Given the description of an element on the screen output the (x, y) to click on. 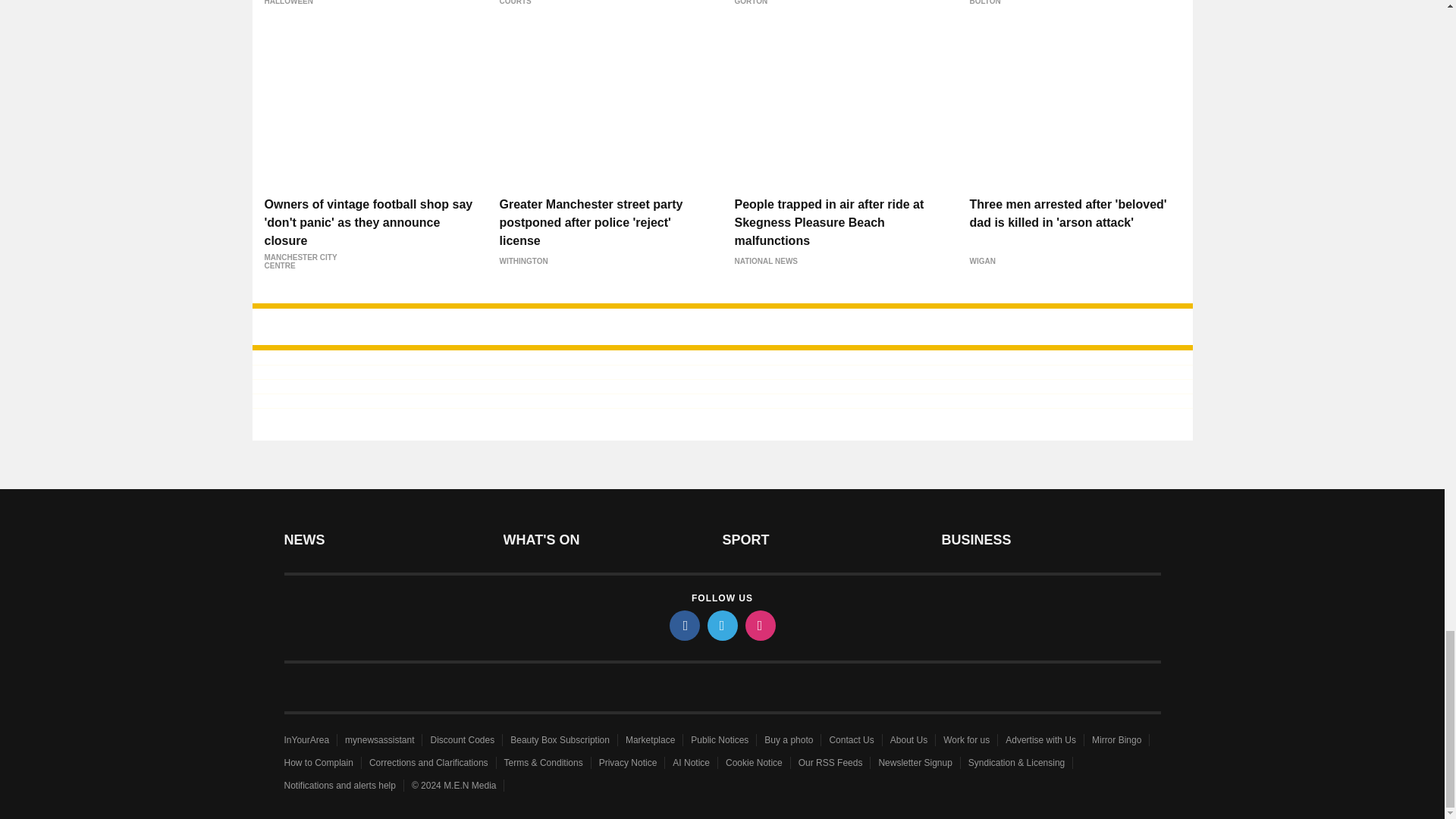
instagram (759, 625)
facebook (683, 625)
twitter (721, 625)
